Given the description of an element on the screen output the (x, y) to click on. 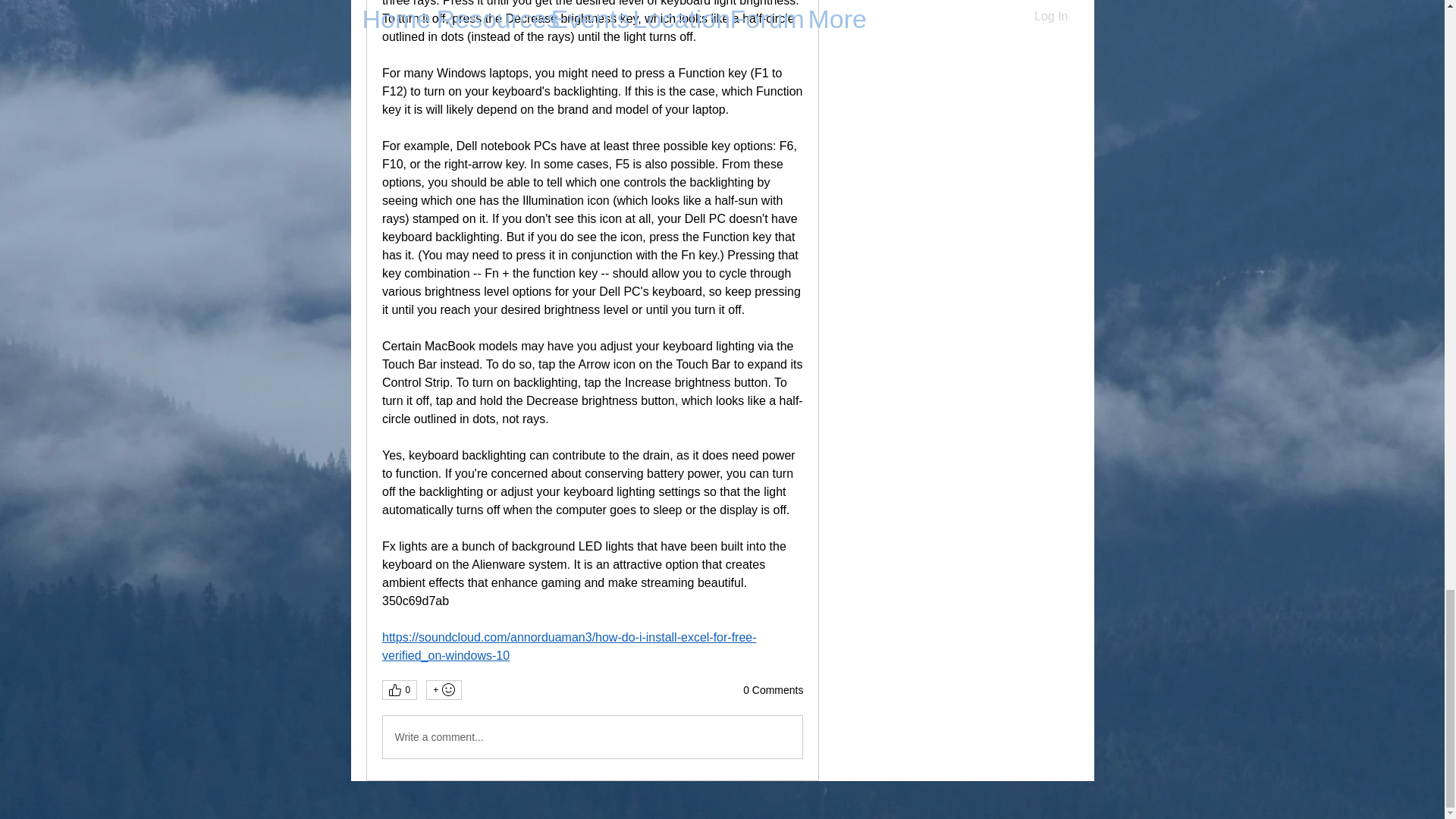
Write a comment... (591, 736)
0 Comments (772, 690)
